Given the description of an element on the screen output the (x, y) to click on. 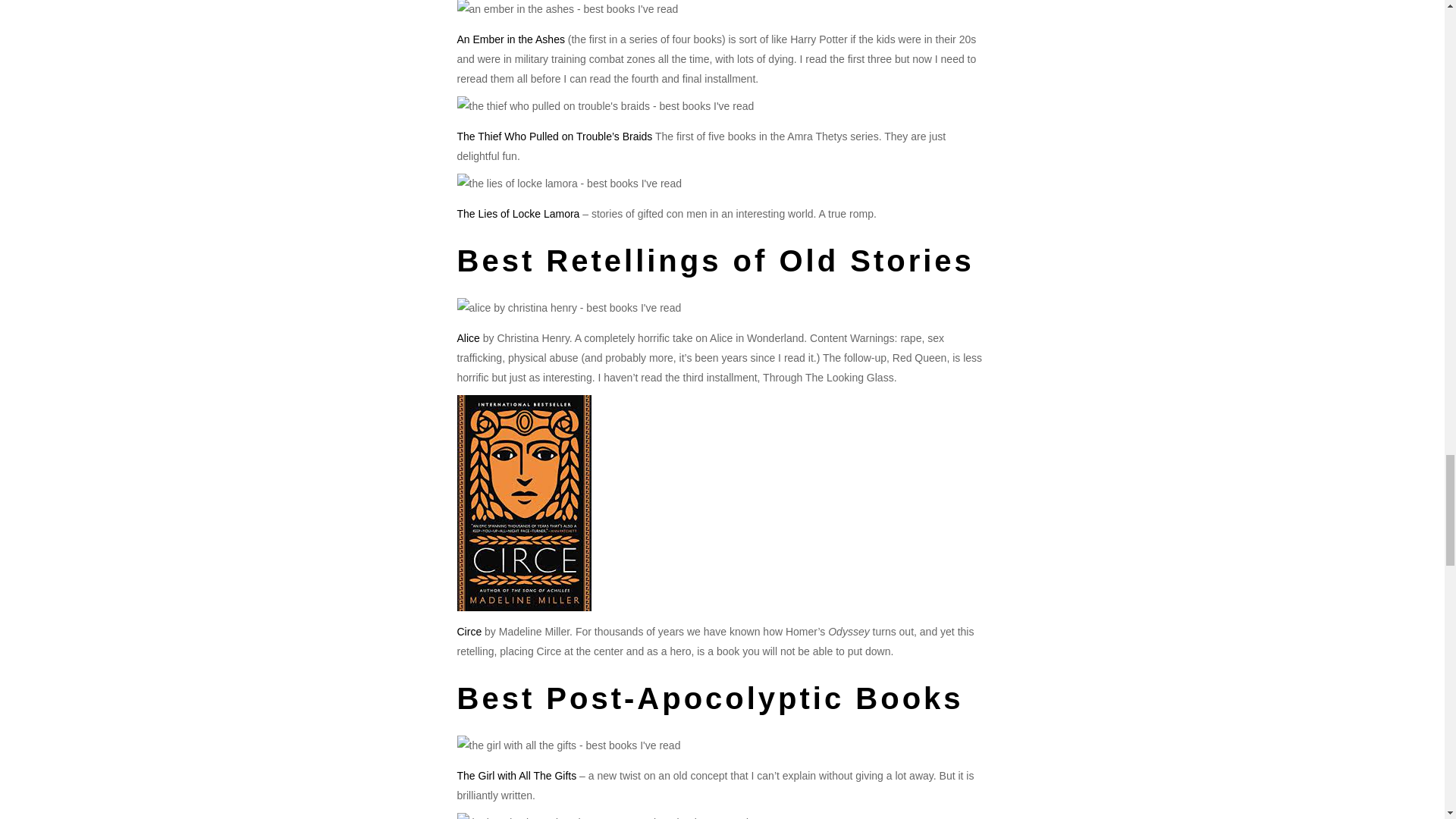
An Ember in the Ashes (512, 39)
